Given the description of an element on the screen output the (x, y) to click on. 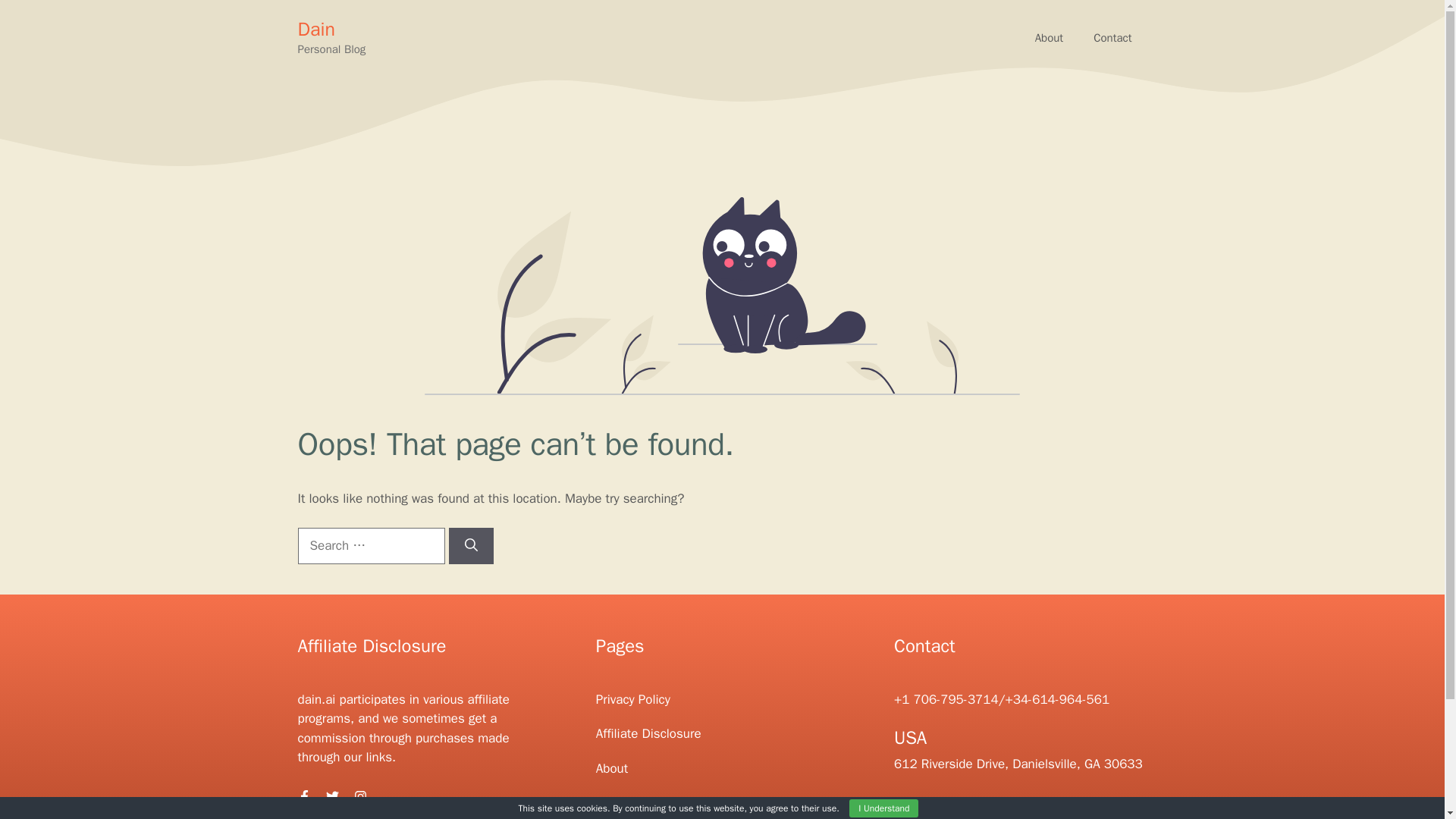
Contact (617, 802)
About (1049, 37)
I Understand (883, 808)
Contact (1112, 37)
Privacy Policy (632, 699)
Dain (315, 28)
Contact (1112, 37)
About (611, 768)
About (1049, 37)
Search for: (370, 545)
Affiliate Disclosure (648, 733)
